Given the description of an element on the screen output the (x, y) to click on. 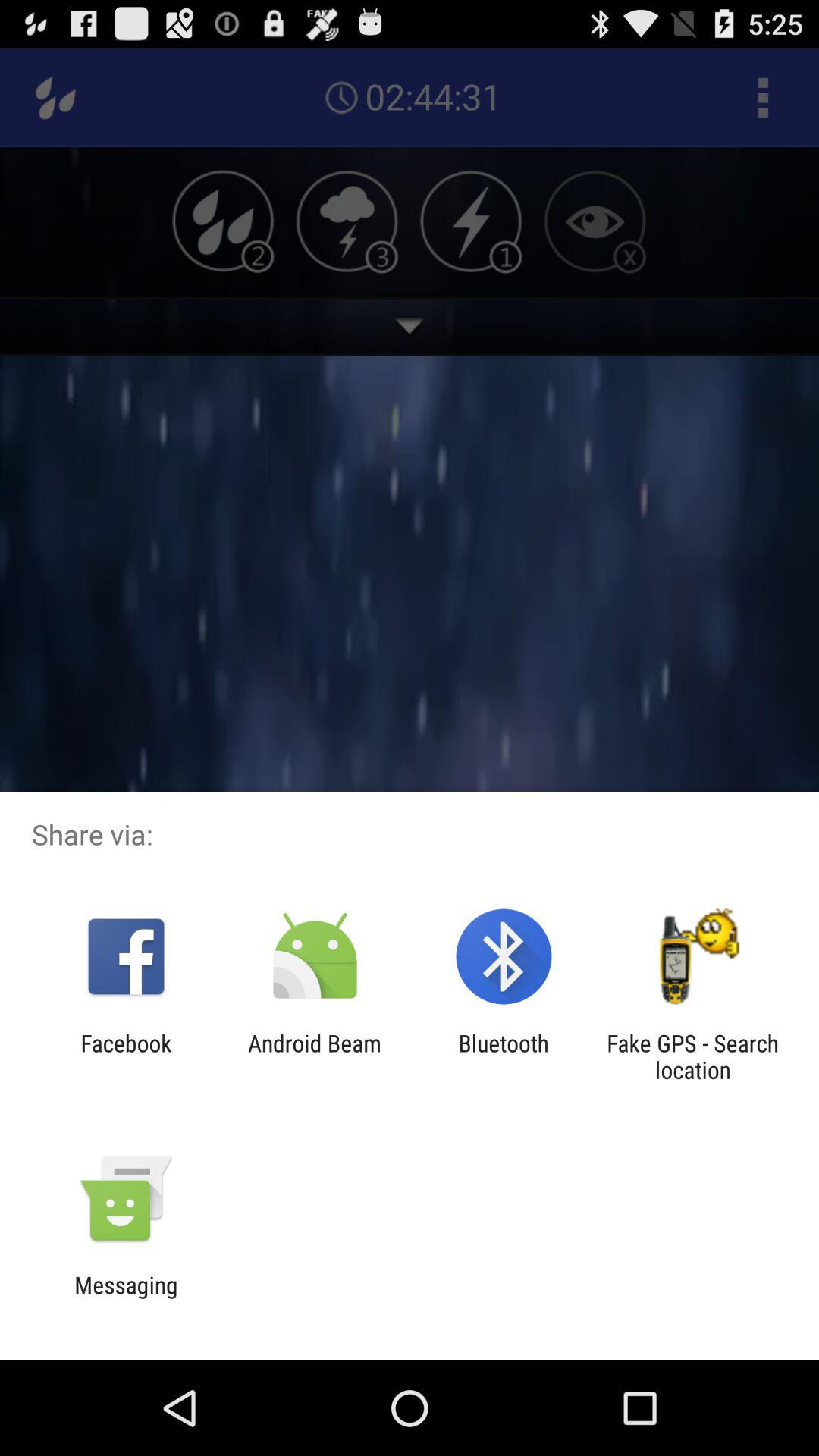
scroll until the fake gps search app (692, 1056)
